Given the description of an element on the screen output the (x, y) to click on. 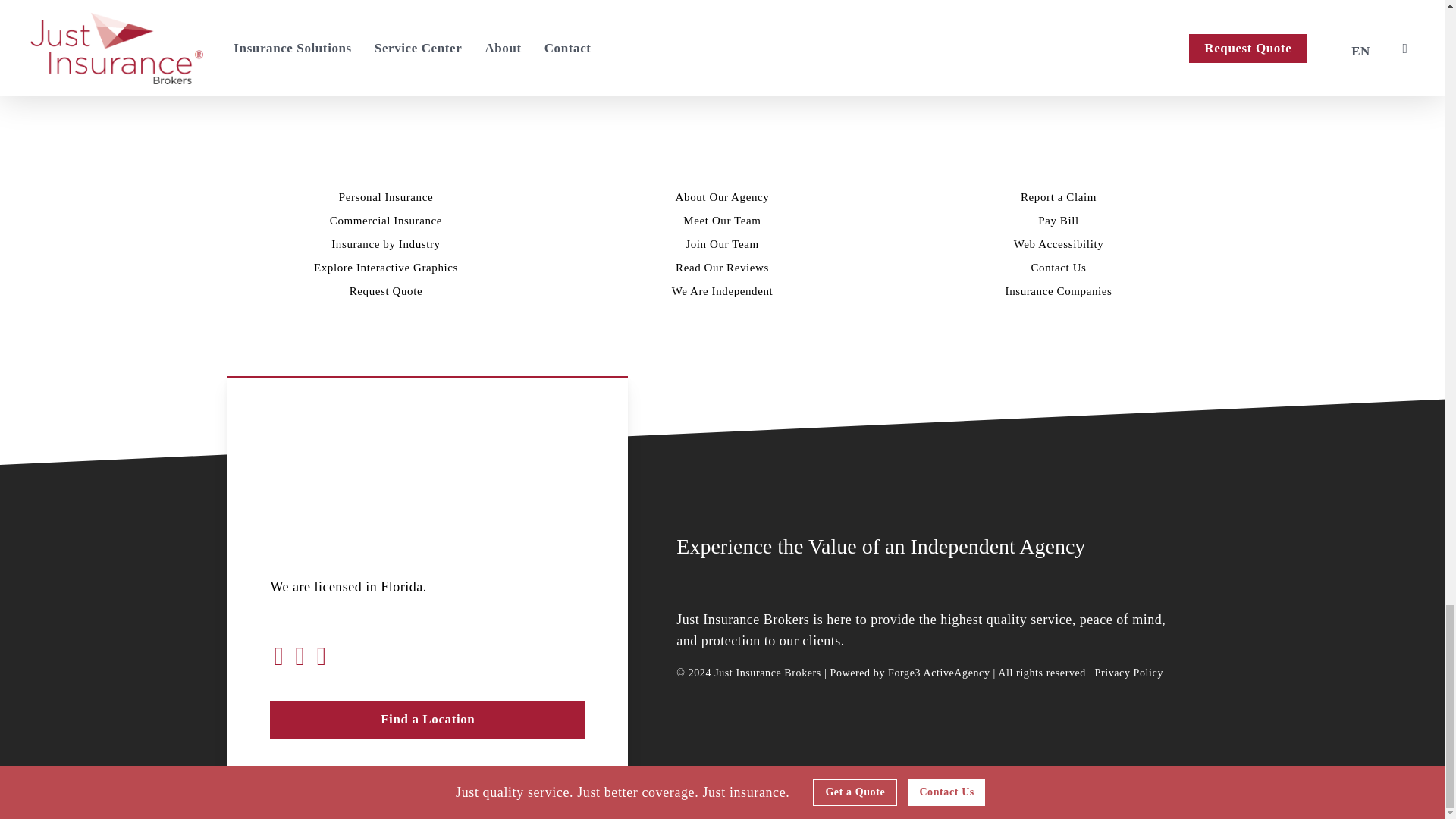
Visit page Personal Insurance (386, 196)
